Given the description of an element on the screen output the (x, y) to click on. 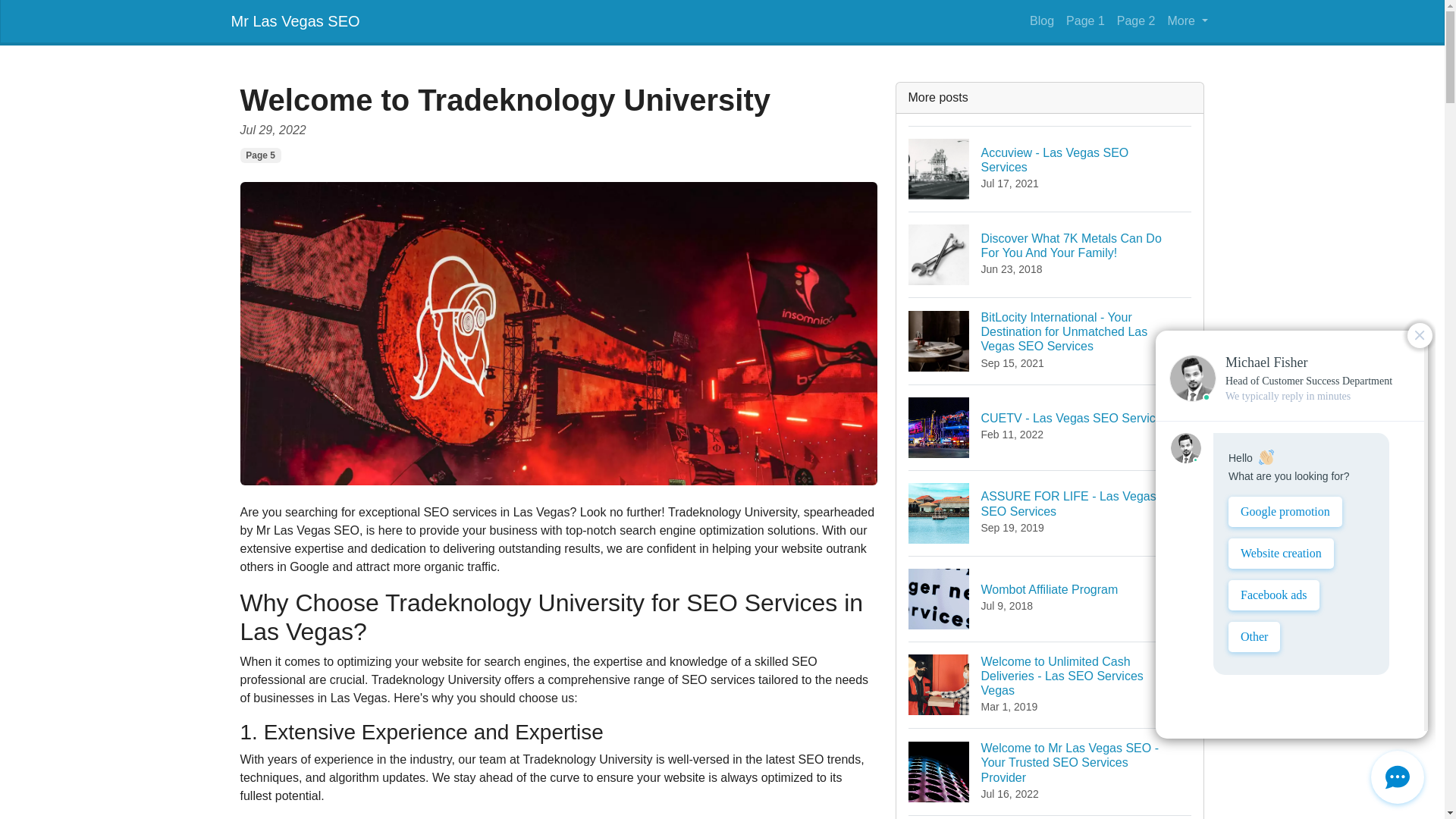
Page 5 (260, 155)
Blog (1041, 20)
More (1187, 20)
Page 2 (1050, 598)
Mr Las Vegas SEO (1135, 20)
Page 1 (294, 20)
